Given the description of an element on the screen output the (x, y) to click on. 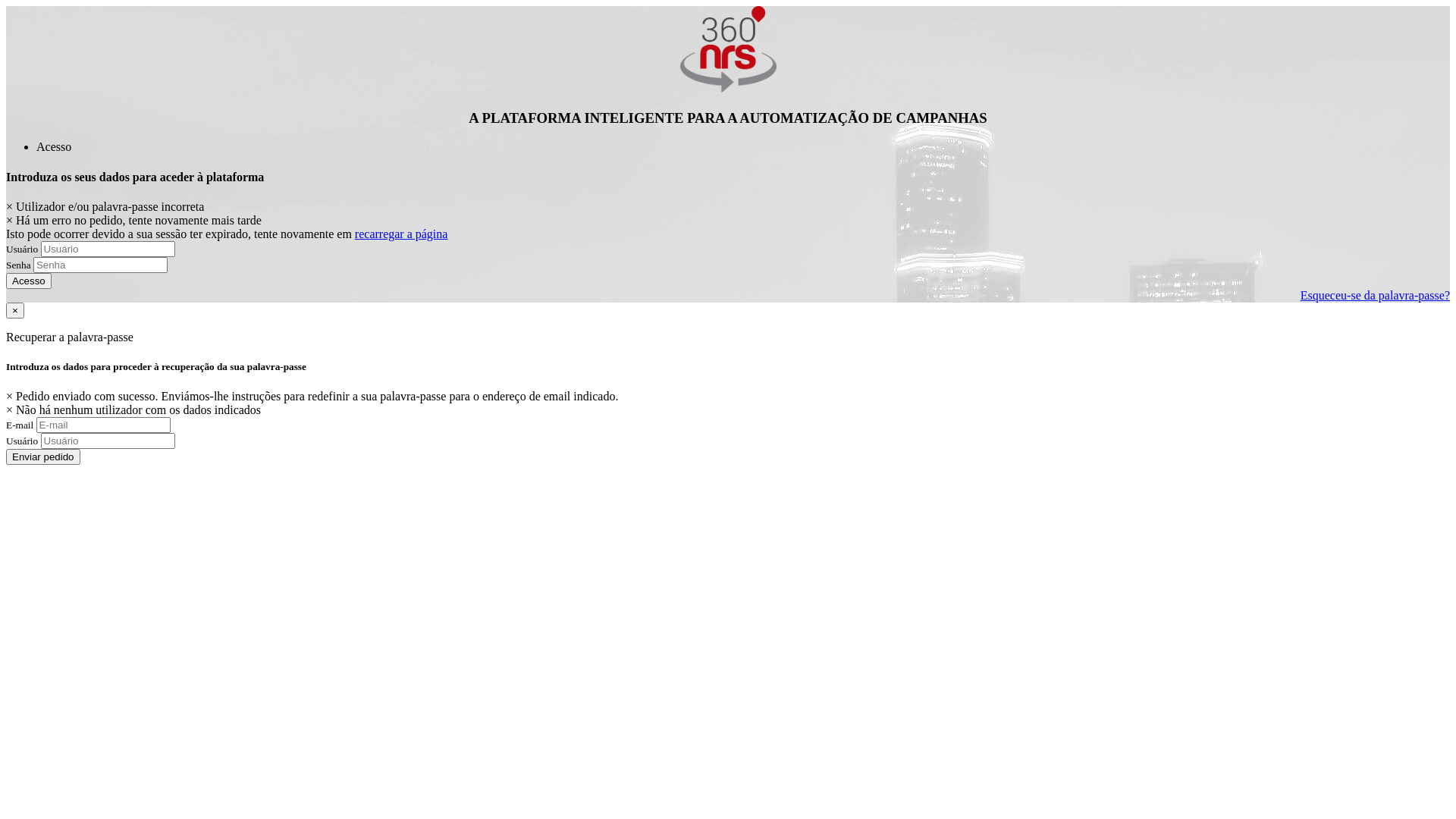
Acesso Element type: text (53, 146)
Acesso Element type: text (28, 280)
Esqueceu-se da palavra-passe? Element type: text (1374, 294)
